Given the description of an element on the screen output the (x, y) to click on. 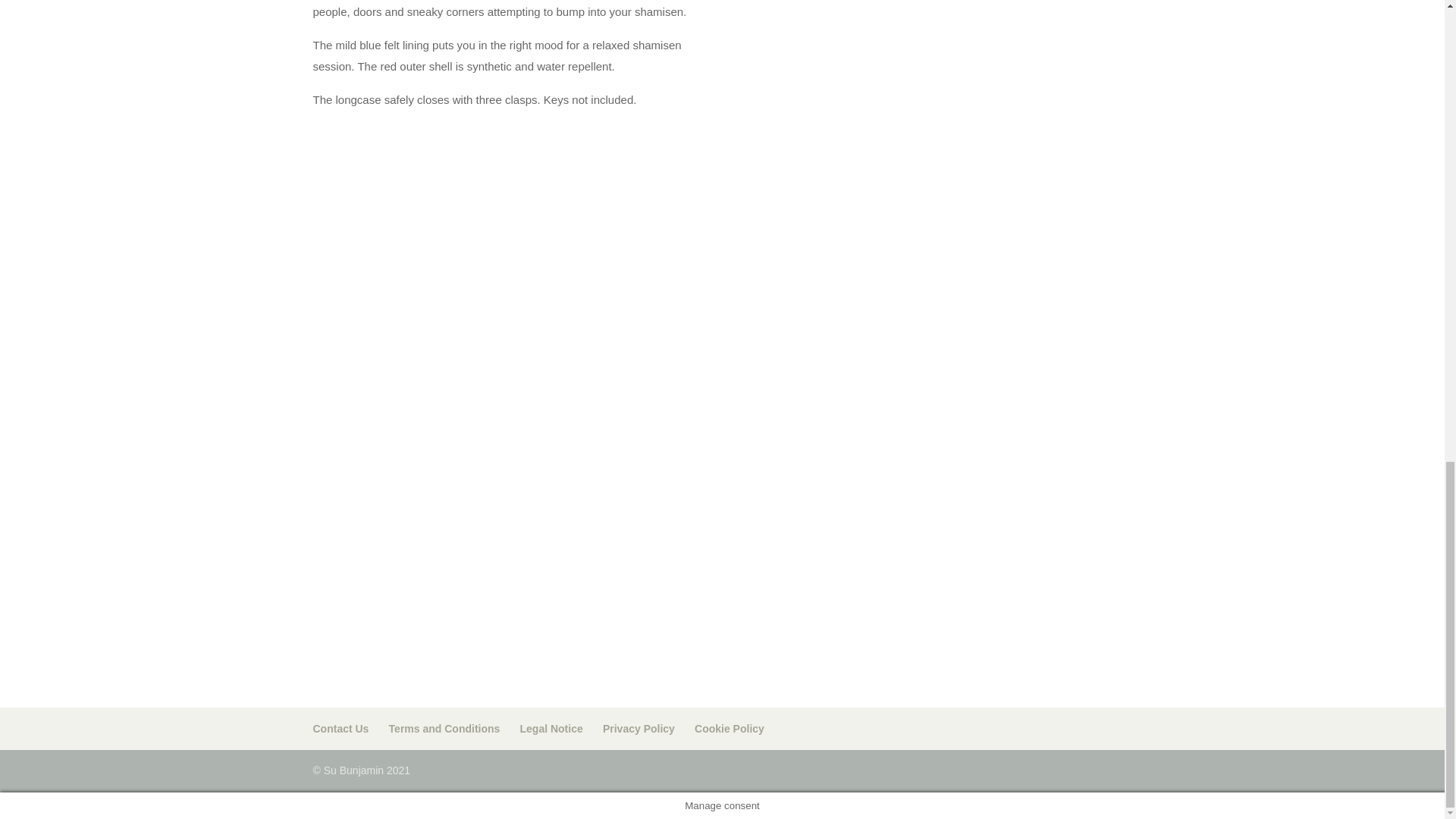
Page 1 (505, 55)
Terms and Conditions (444, 728)
Legal Notice (551, 728)
Privacy Policy (638, 728)
Cookie Policy (729, 728)
Contact Us (340, 728)
